Given the description of an element on the screen output the (x, y) to click on. 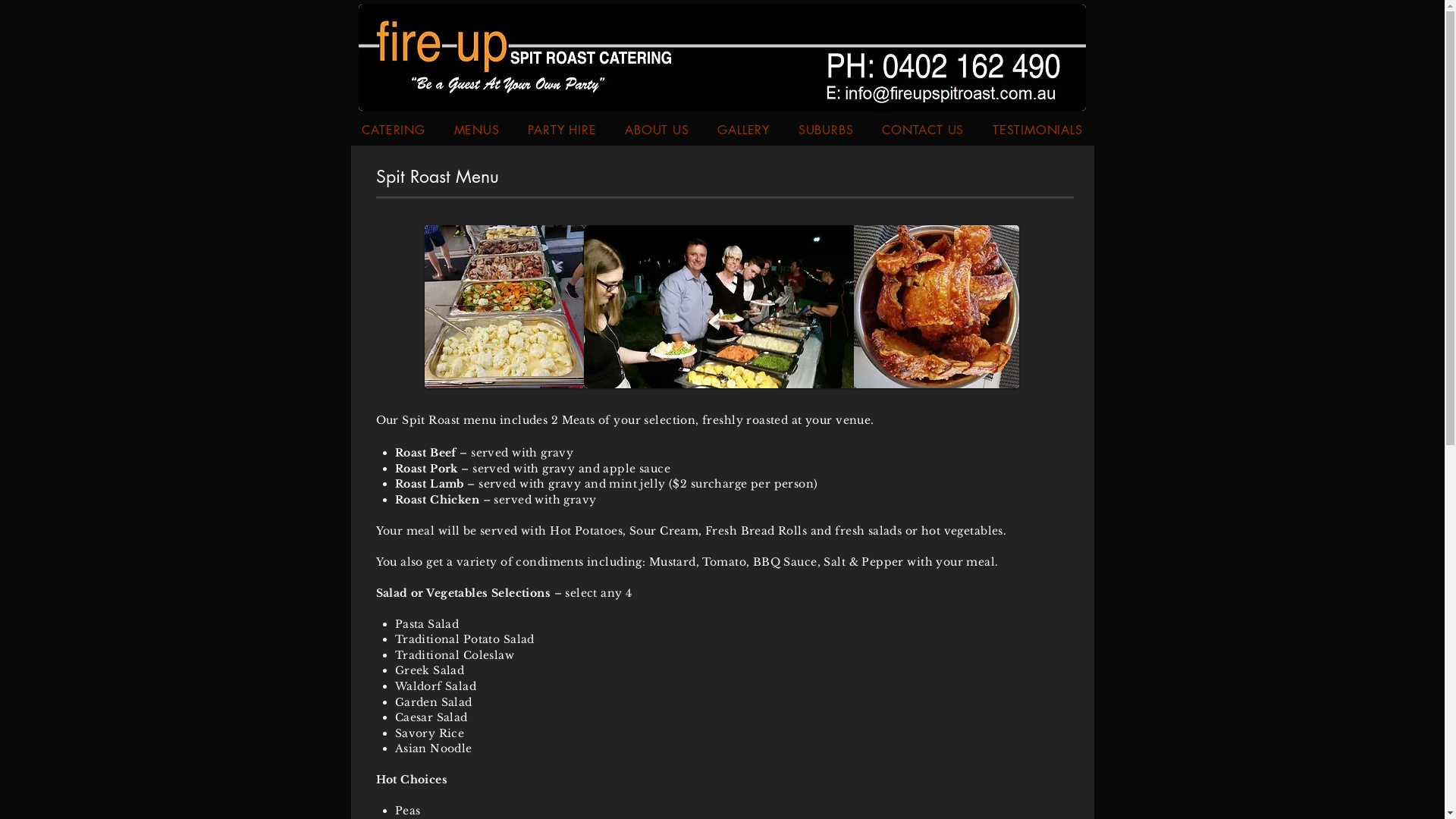
GALLERY Element type: text (743, 129)
SUBURBS Element type: text (825, 129)
ABOUT US Element type: text (656, 129)
MENUS Element type: text (476, 129)
TESTIMONIALS Element type: text (1037, 129)
CONTACT US Element type: text (922, 129)
PARTY HIRE Element type: text (562, 129)
CATERING Element type: text (393, 129)
